Given the description of an element on the screen output the (x, y) to click on. 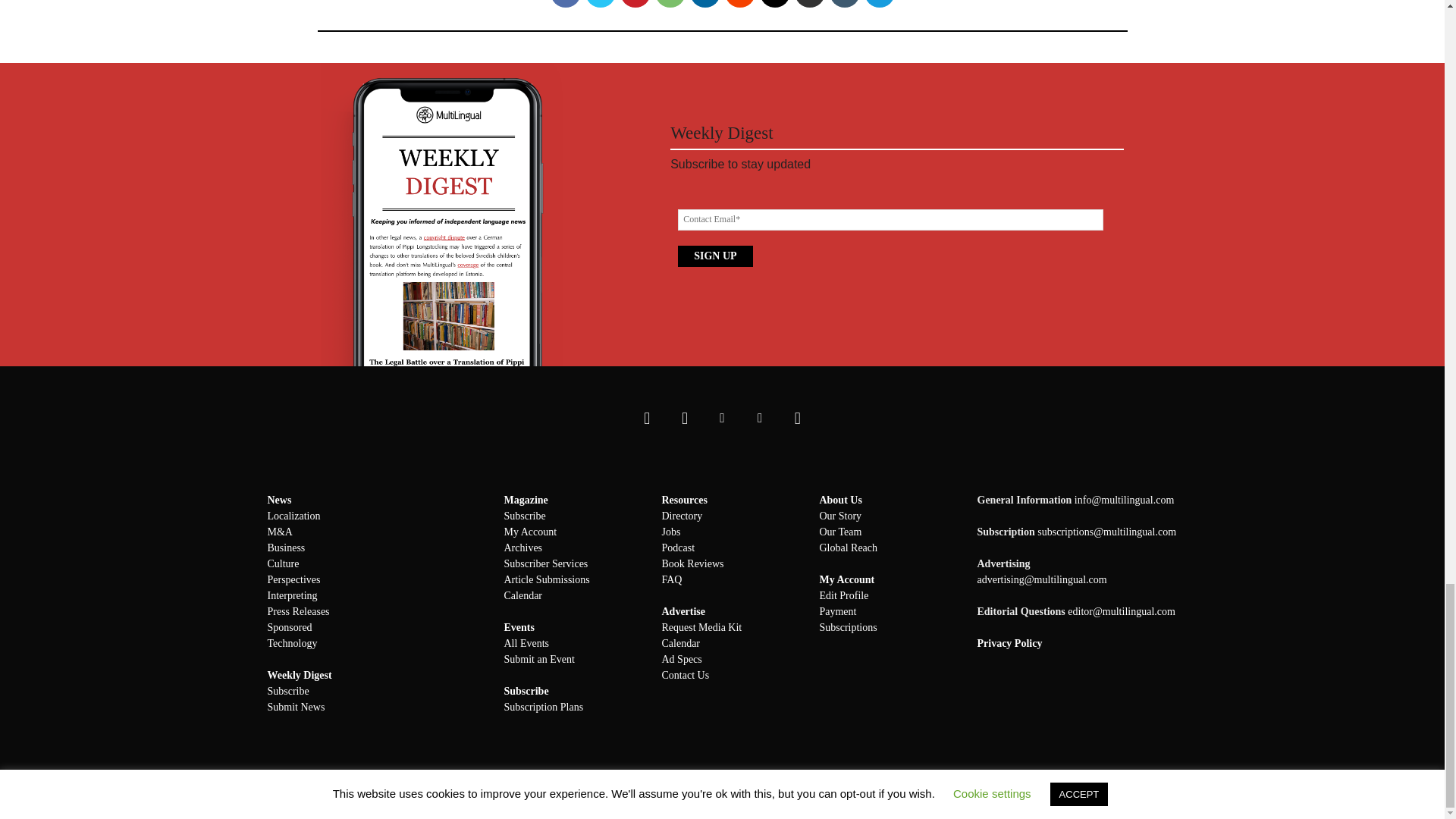
SIGN UP (715, 255)
